Given the description of an element on the screen output the (x, y) to click on. 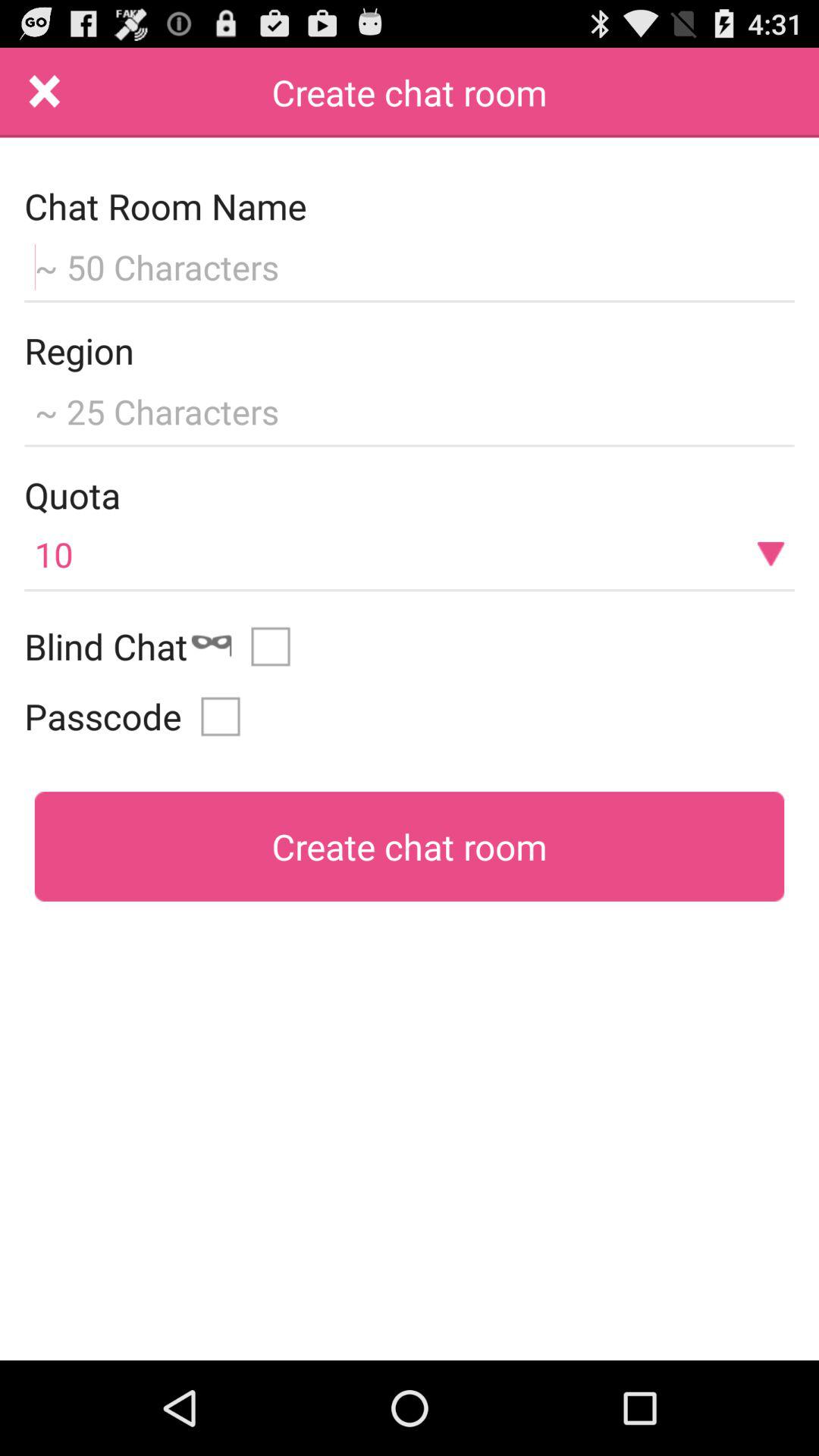
enter region (409, 409)
